Given the description of an element on the screen output the (x, y) to click on. 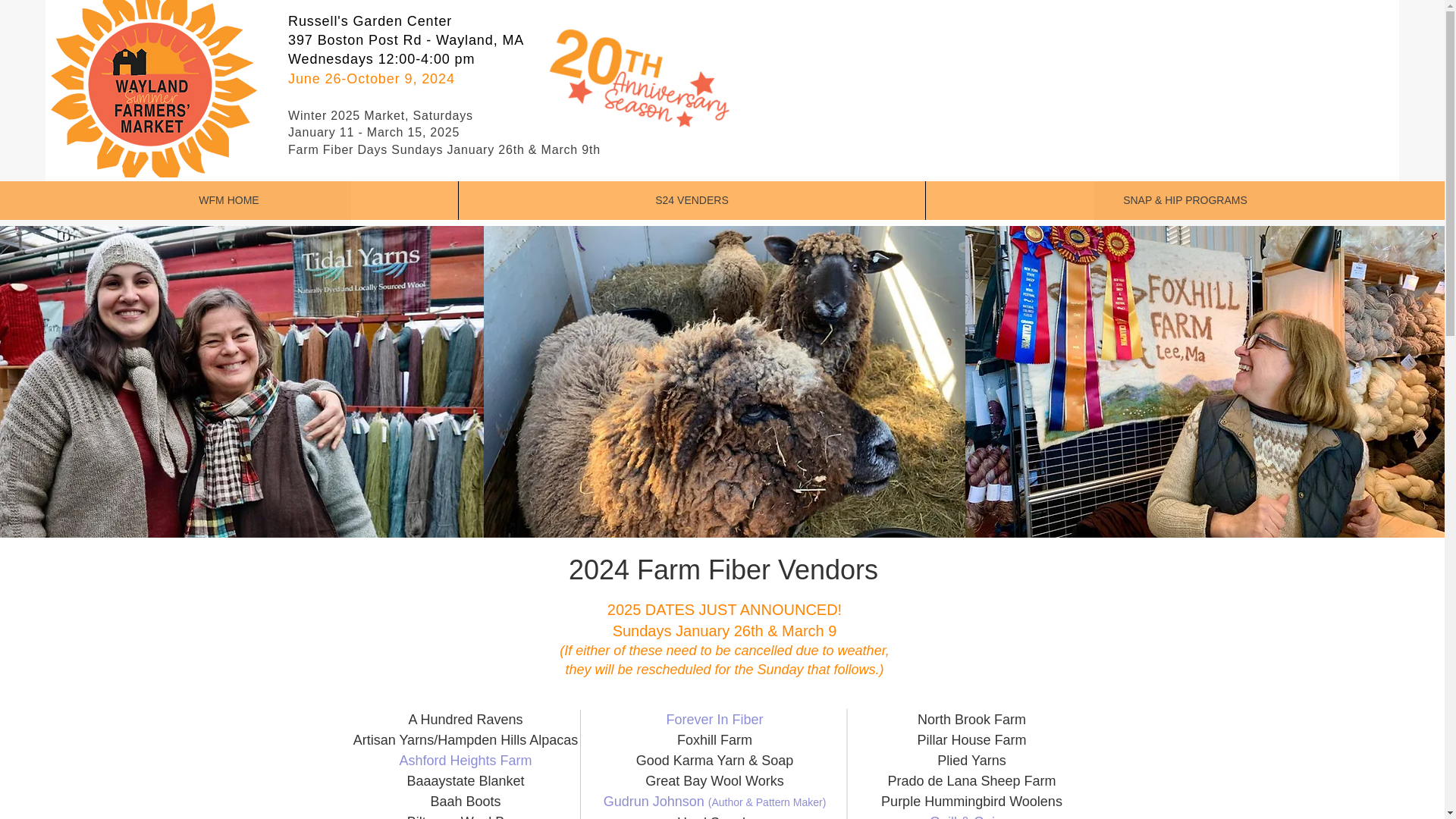
Great Bay Wool Works (714, 780)
Baah Boots (464, 801)
Baaaystate Blanket (465, 780)
Forever In Fiber (713, 719)
S24 VENDERS (691, 200)
Biltmore Wool Barn (465, 816)
Gudrun Johnson (655, 801)
A Hundred Ravens (464, 719)
Wednesdays 12:00-4:00 pm (381, 58)
Russell's Garden Center (369, 20)
